Given the description of an element on the screen output the (x, y) to click on. 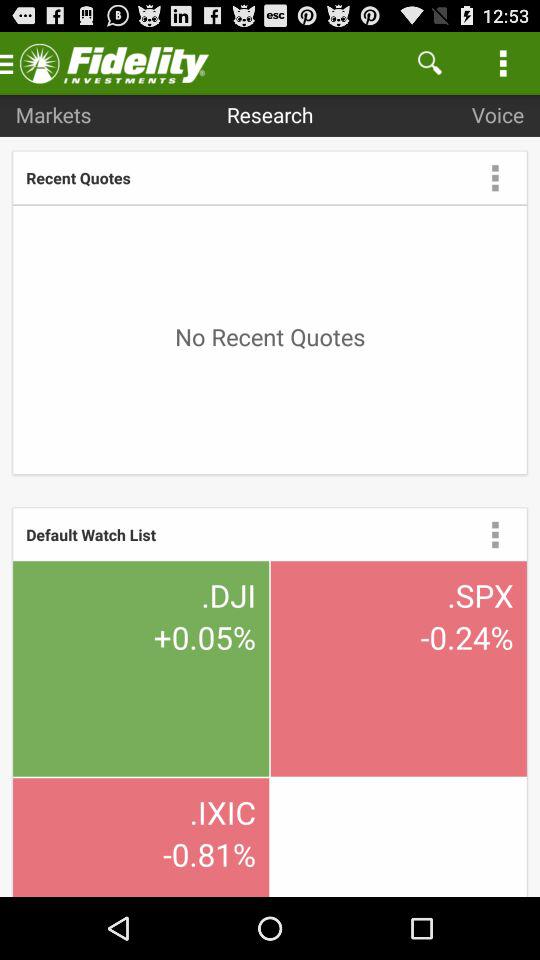
open options menu (495, 534)
